Given the description of an element on the screen output the (x, y) to click on. 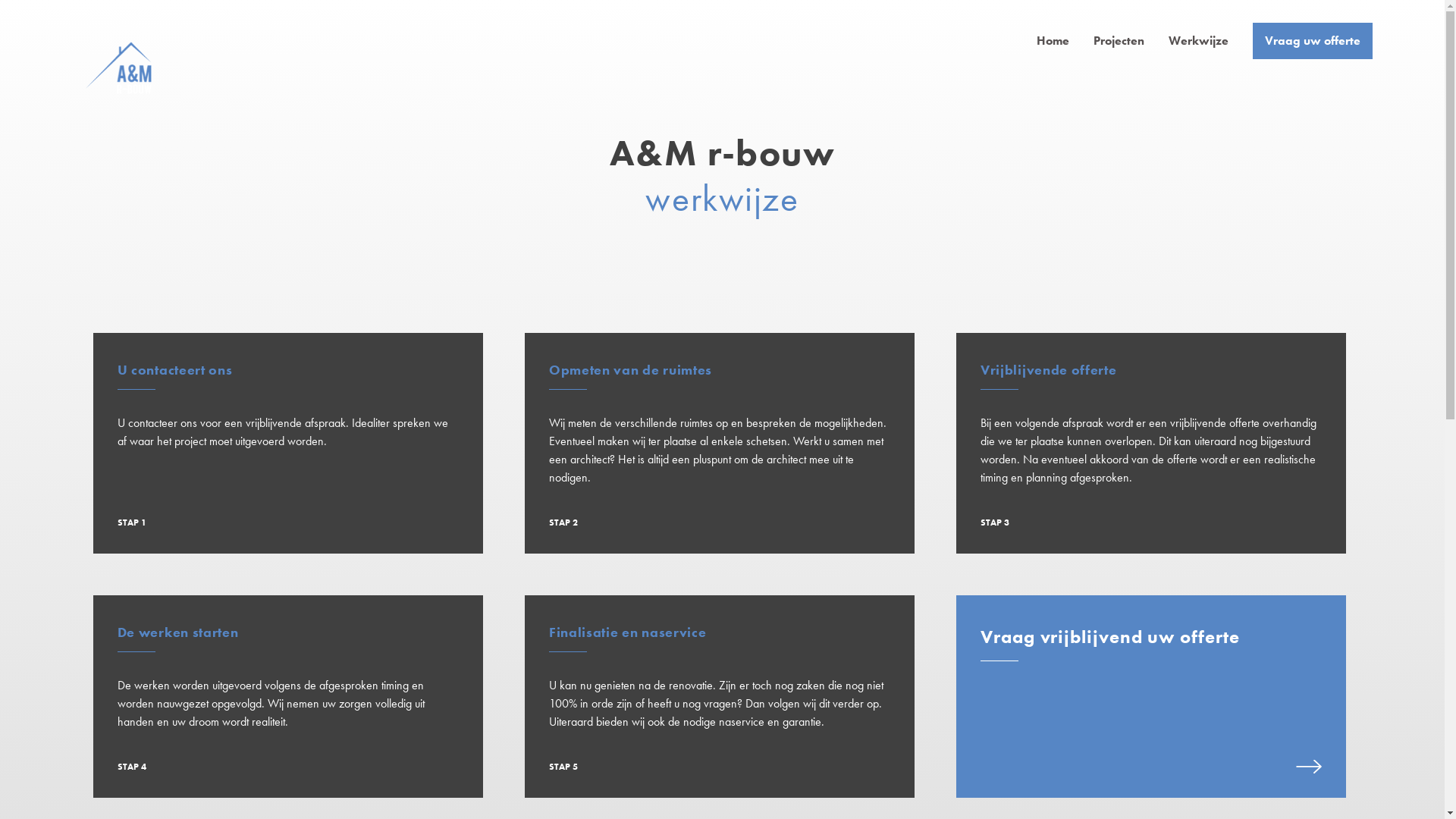
A&M r-bouw Element type: text (118, 67)
Home Element type: text (1052, 40)
Projecten Element type: text (1118, 40)
Werkwijze Element type: text (1198, 40)
Vraag uw offerte Element type: text (1312, 40)
